Given the description of an element on the screen output the (x, y) to click on. 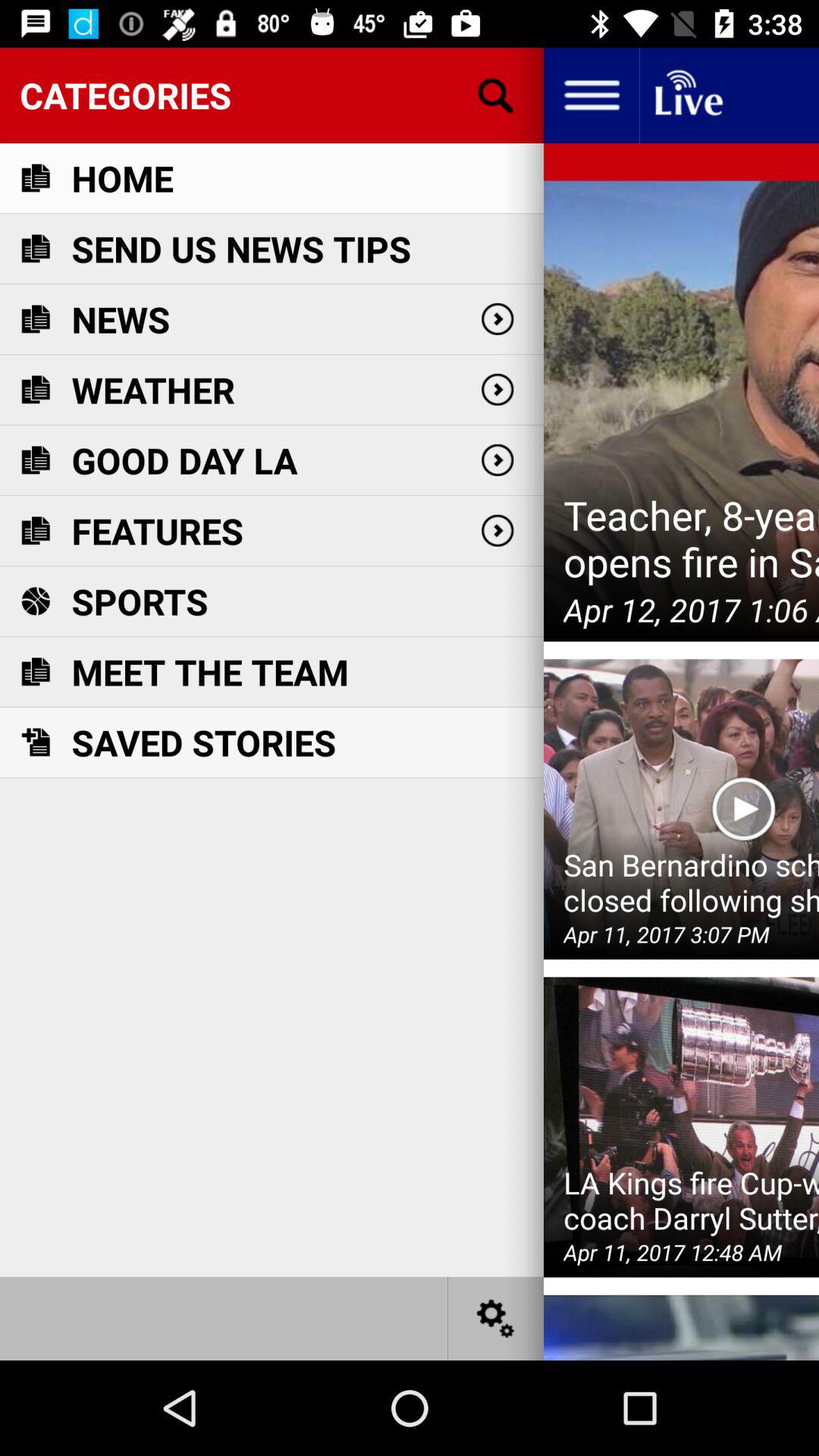
go to setting (495, 1318)
